Given the description of an element on the screen output the (x, y) to click on. 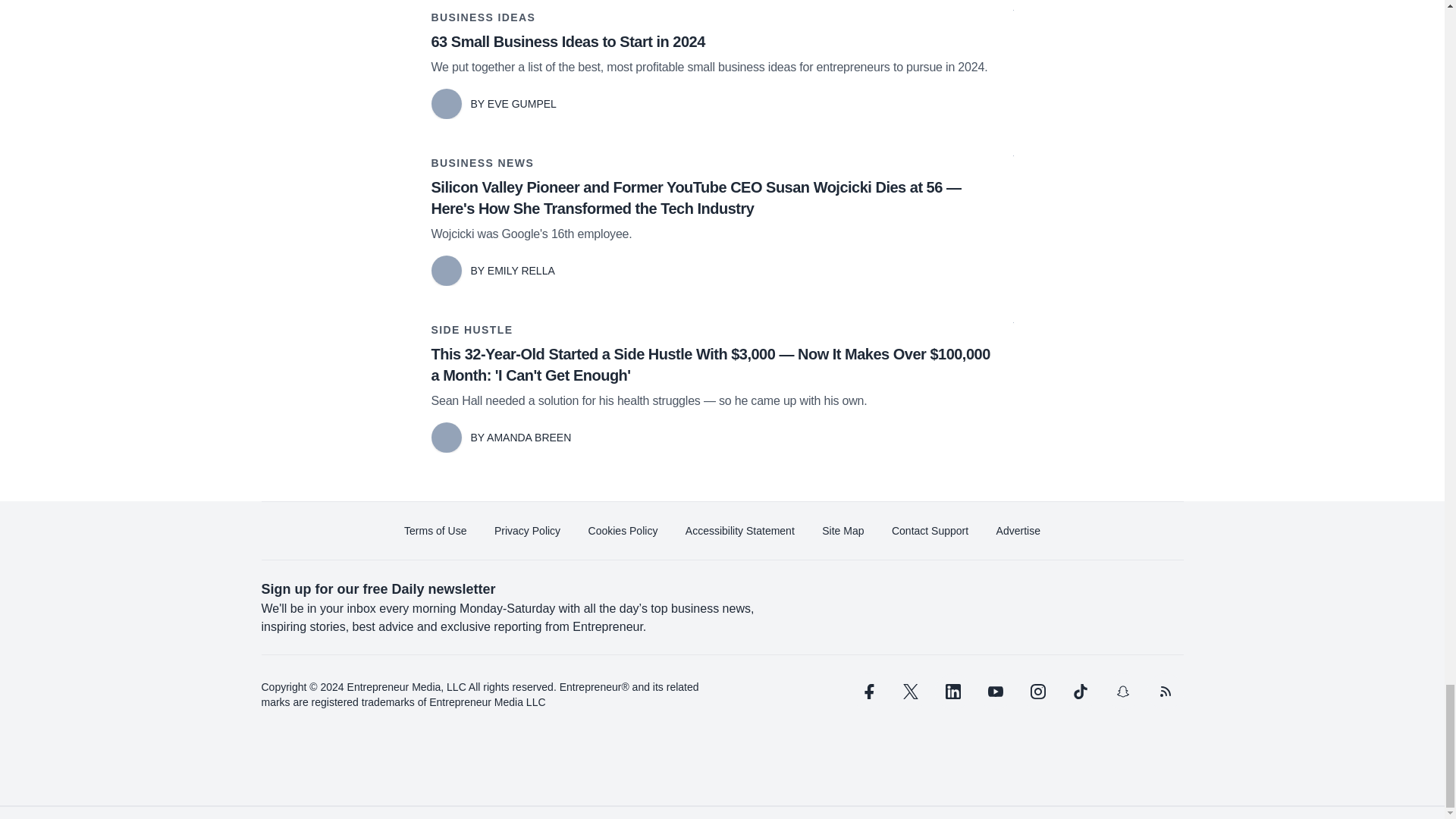
snapchat (1121, 691)
twitter (909, 691)
linkedin (952, 691)
instagram (1037, 691)
youtube (994, 691)
tiktok (1079, 691)
facebook (866, 691)
